Given the description of an element on the screen output the (x, y) to click on. 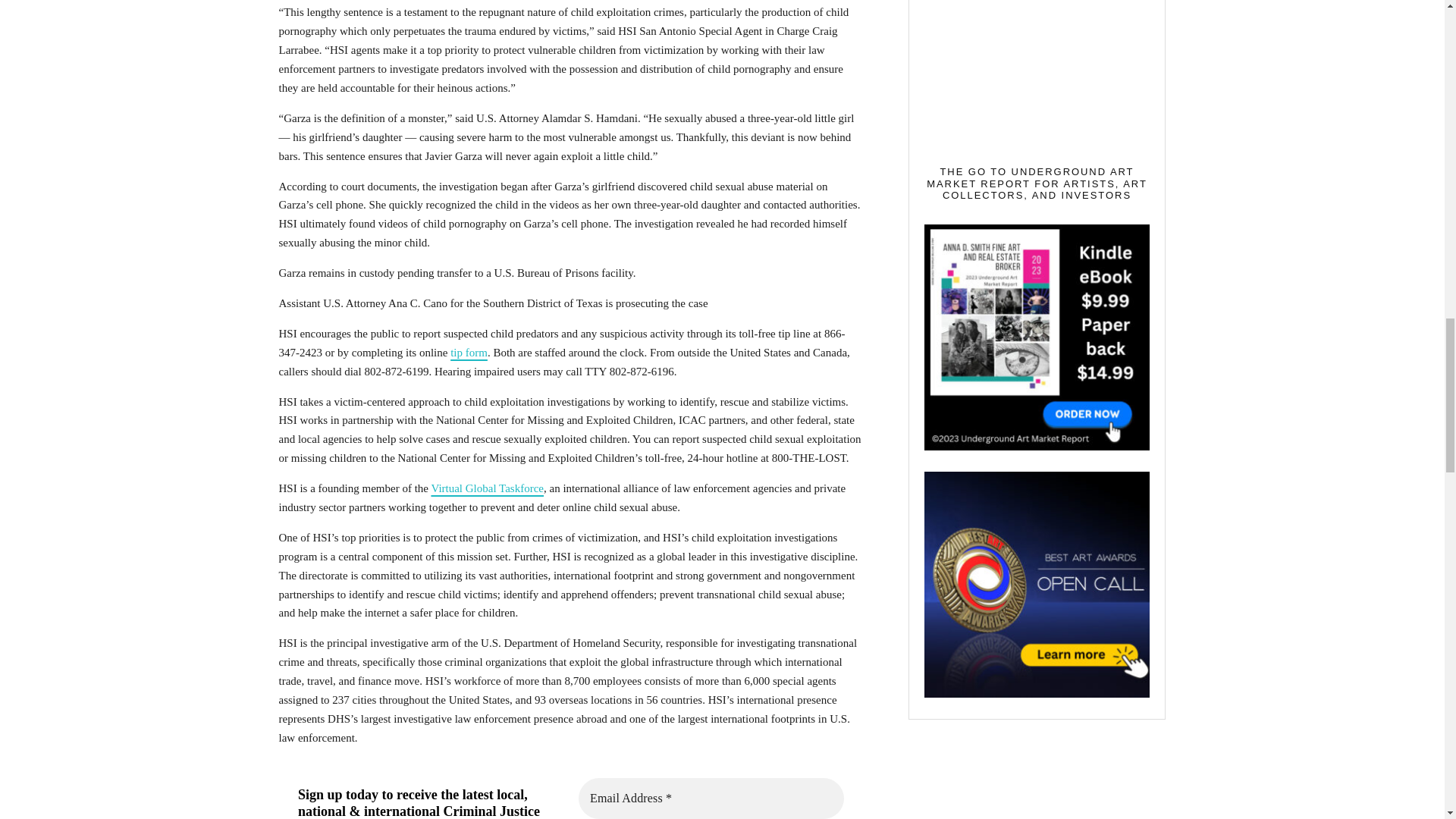
tip form (468, 352)
Email Address (710, 798)
Virtual Global Taskforce (486, 488)
